Given the description of an element on the screen output the (x, y) to click on. 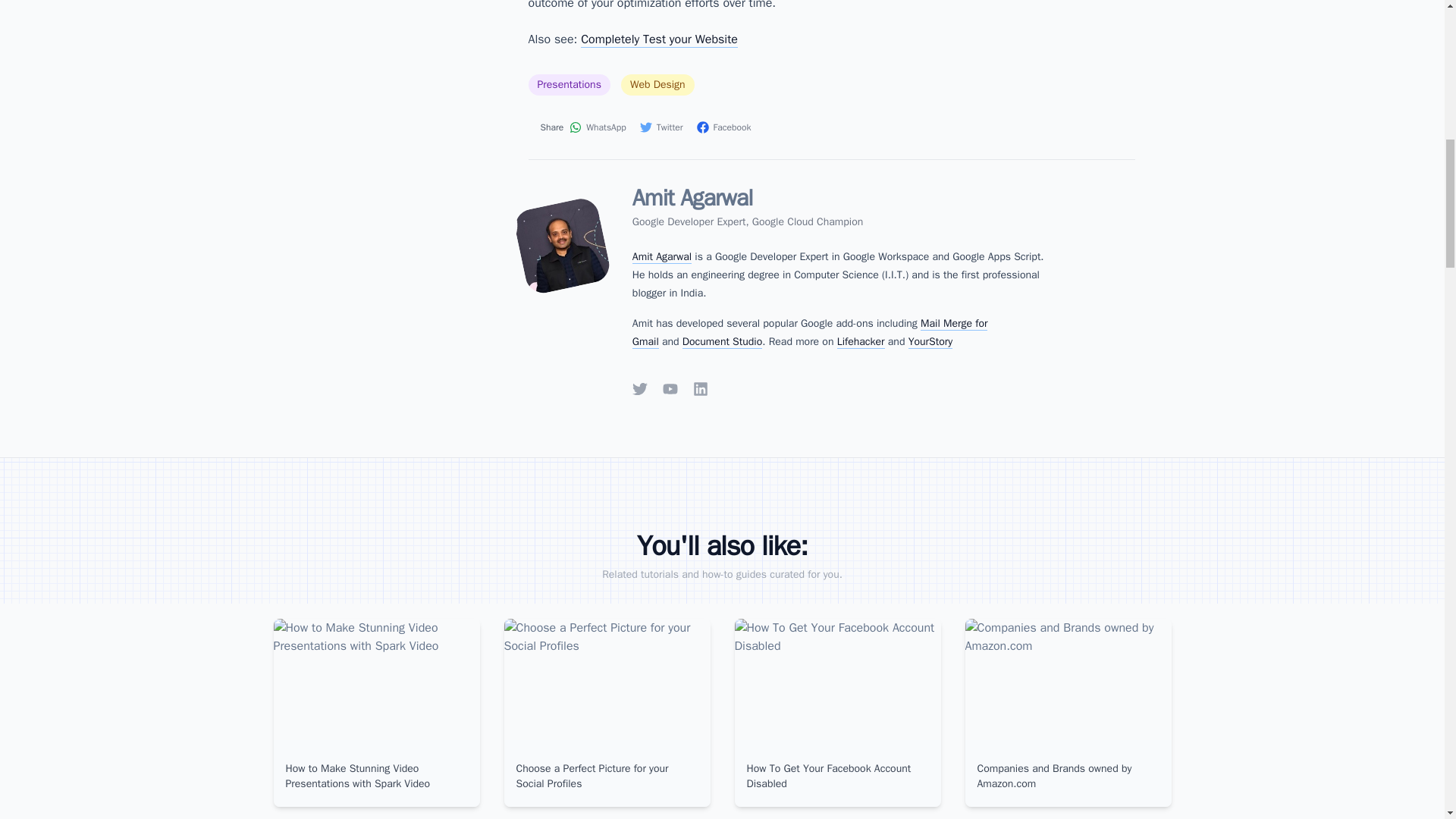
Choose a Perfect Picture for your Social Profiles (606, 776)
YouTube (670, 388)
Companies and Brands owned by Amazon.com (1067, 776)
Share on Facebook (724, 127)
Presentations (568, 84)
Twitter (639, 388)
Share on WhatsApp (598, 127)
Twitter (662, 127)
Share on Twitter (662, 127)
Amit Agarwal (661, 256)
